Given the description of an element on the screen output the (x, y) to click on. 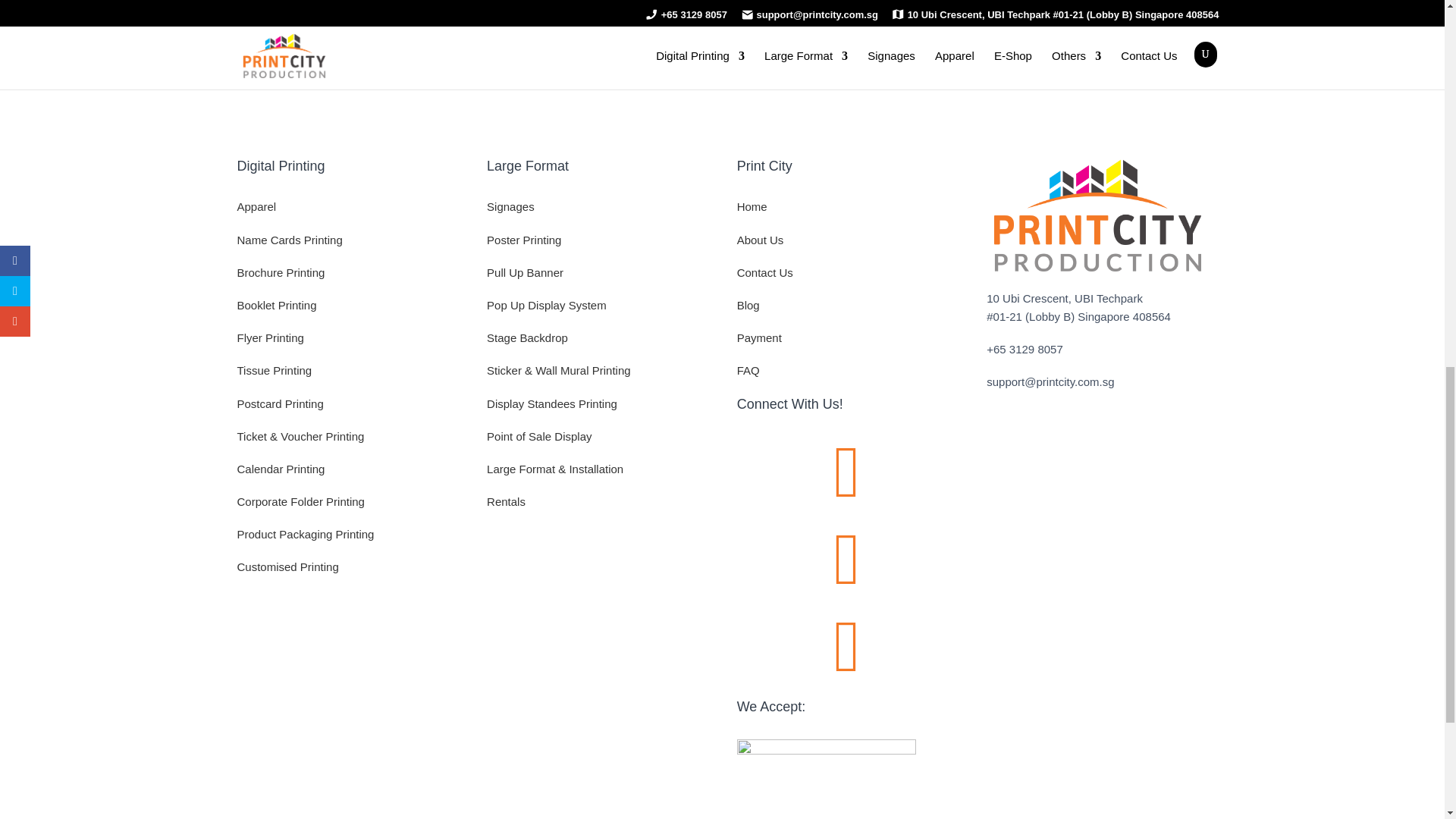
Postcard Printing (279, 403)
Flyer Printing (268, 337)
Tissue Printing (273, 369)
Apparel (255, 205)
Printcity (1097, 216)
Brochure Printing (279, 272)
Booklet Printing (275, 305)
Name Cards Printing (288, 239)
img-payment-accept (825, 748)
